Given the description of an element on the screen output the (x, y) to click on. 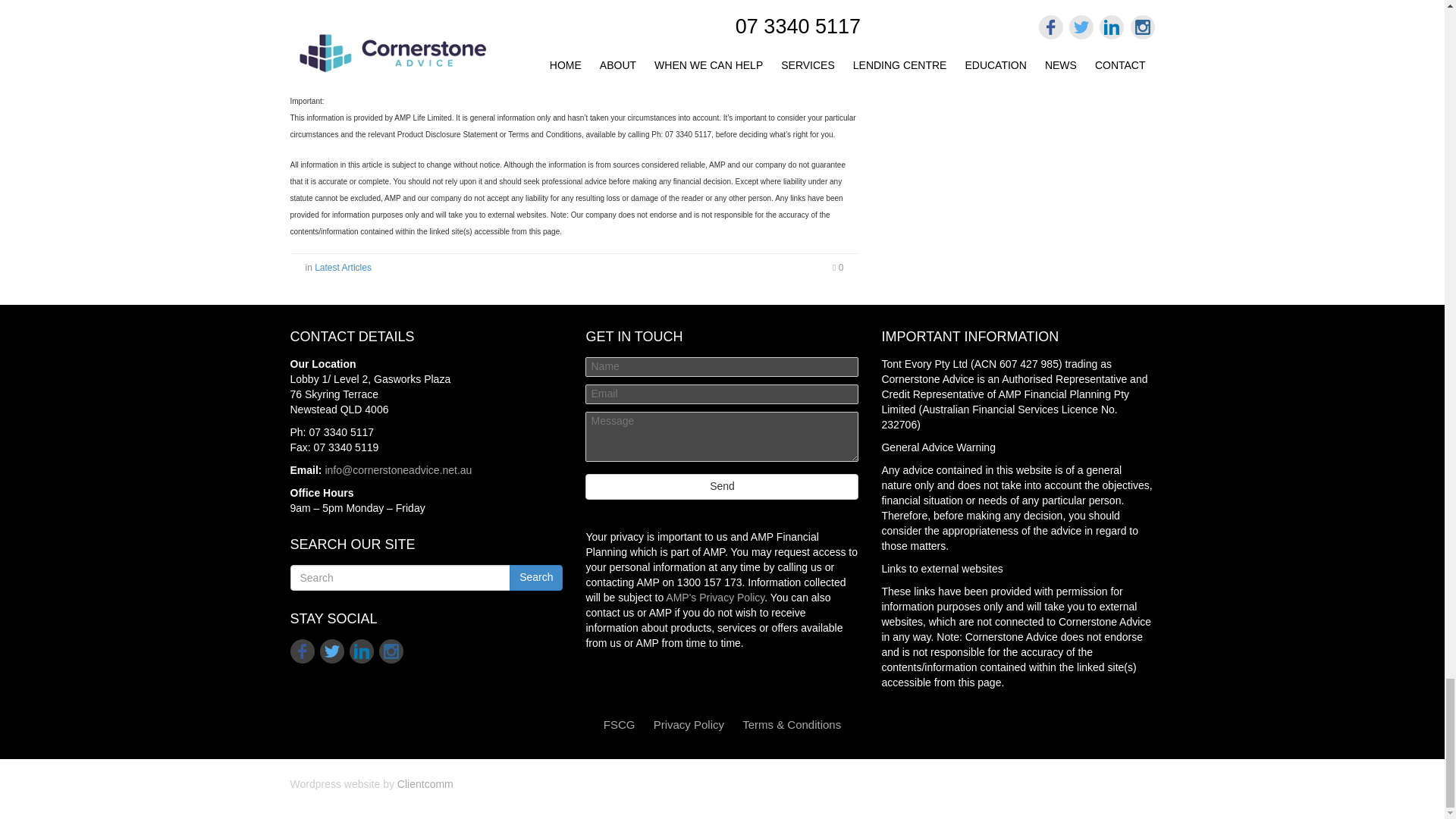
Send (722, 486)
0 (837, 267)
AMP April 2023 (343, 70)
Latest Articles (342, 267)
